Given the description of an element on the screen output the (x, y) to click on. 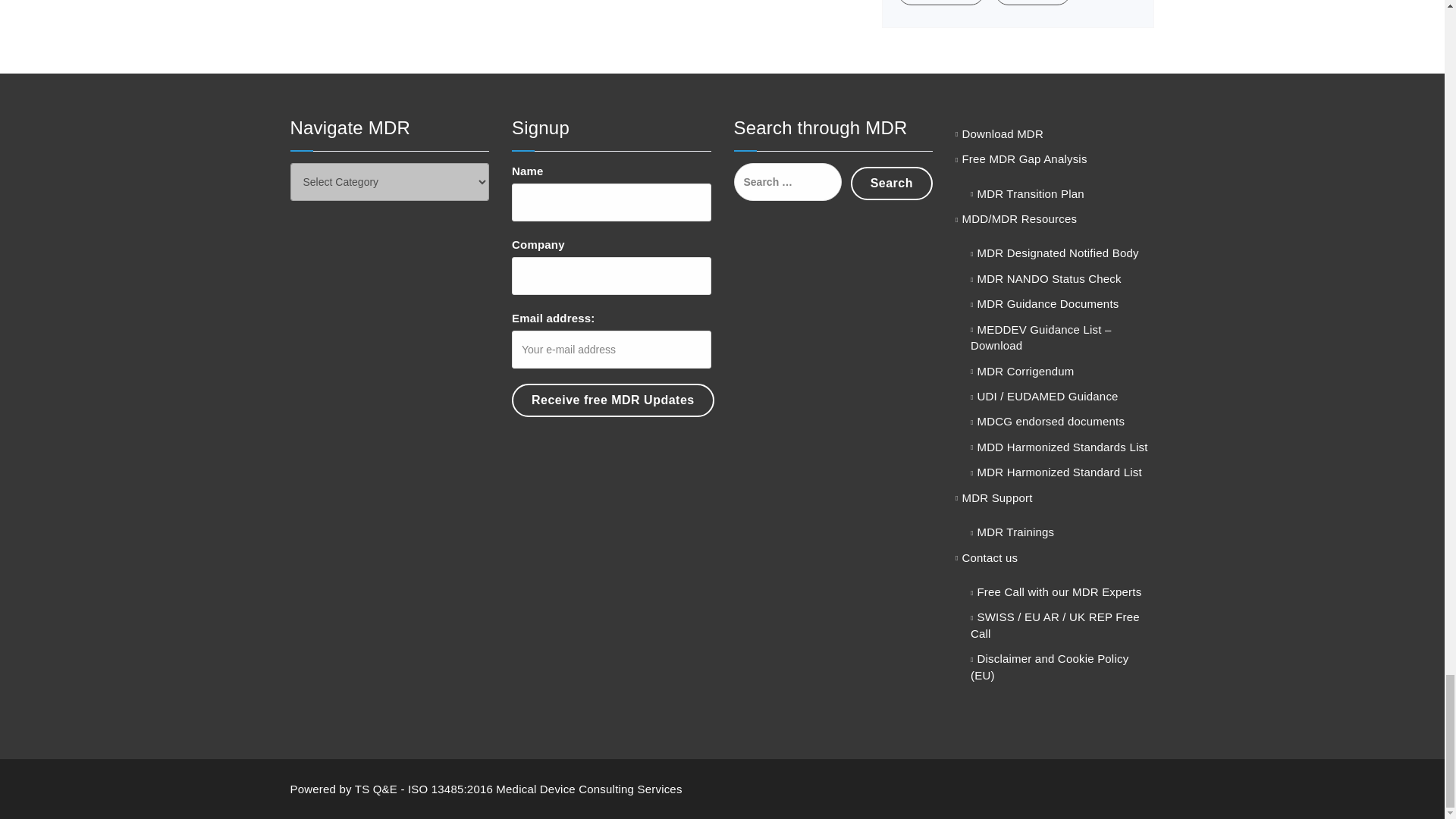
Search (891, 183)
